Given the description of an element on the screen output the (x, y) to click on. 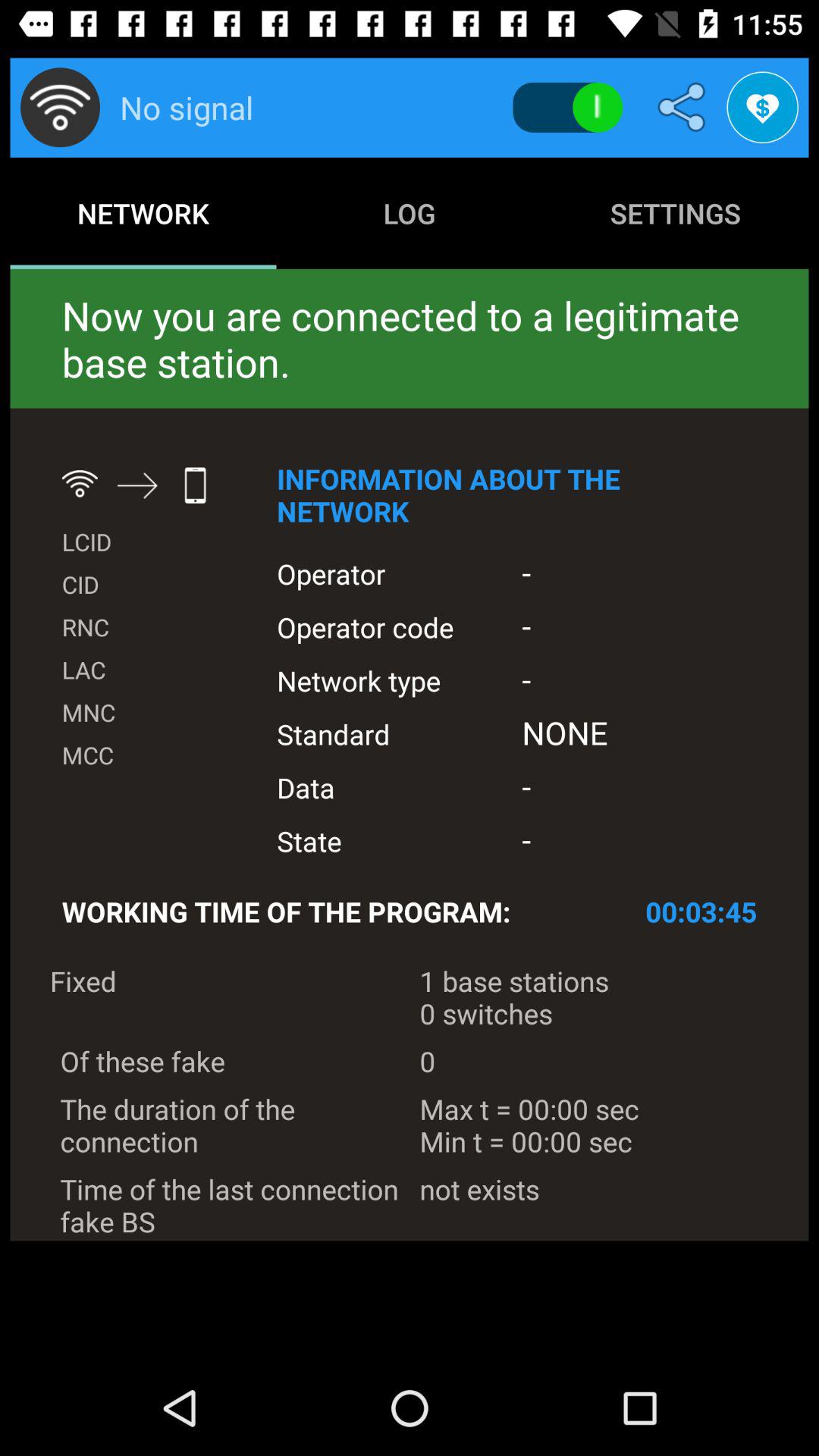
toggle on (567, 107)
